Given the description of an element on the screen output the (x, y) to click on. 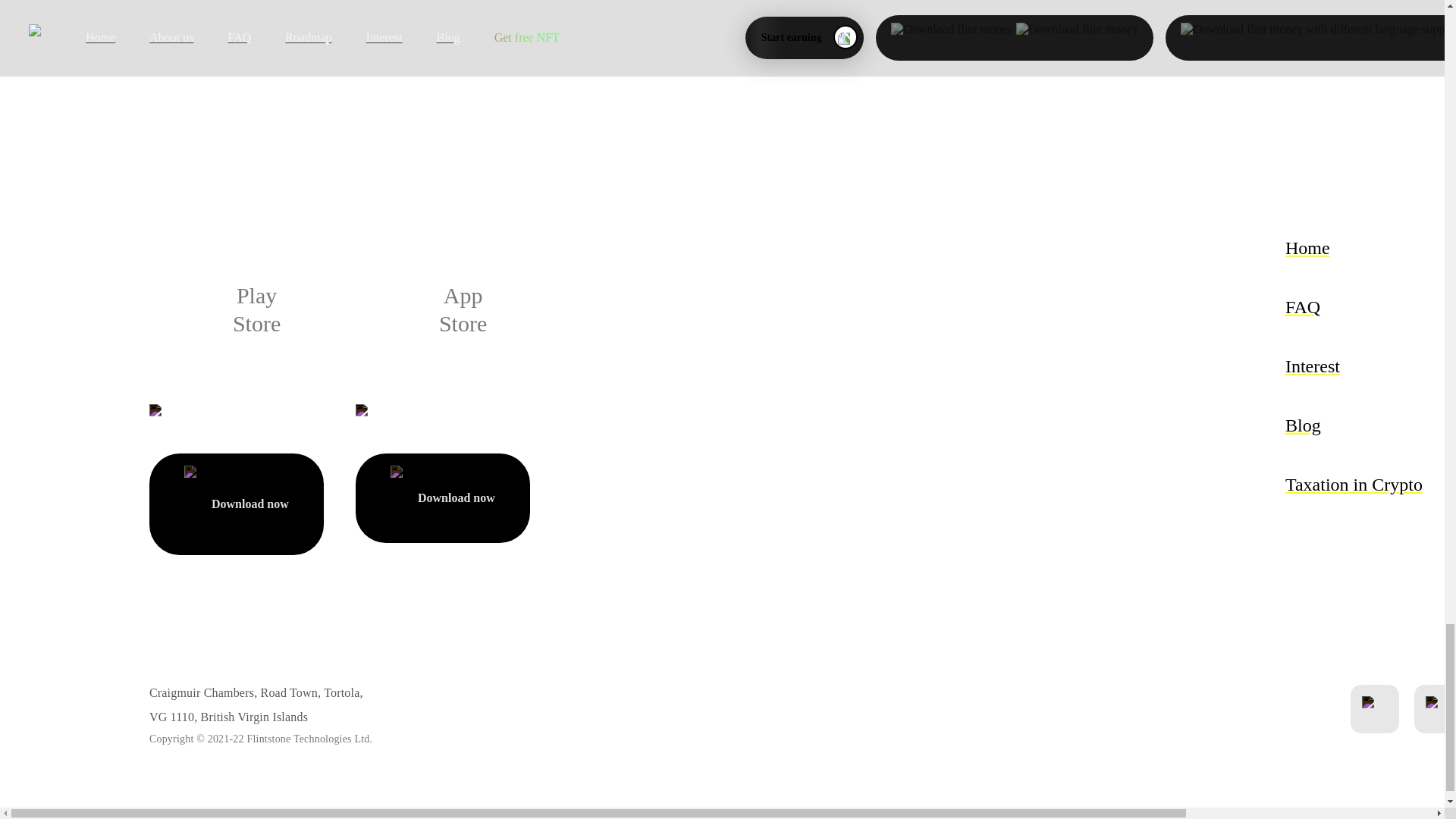
Taxation in Crypto (1353, 484)
FAQ (1353, 307)
Home (1353, 248)
Interest (1353, 366)
Blog (1353, 425)
